Given the description of an element on the screen output the (x, y) to click on. 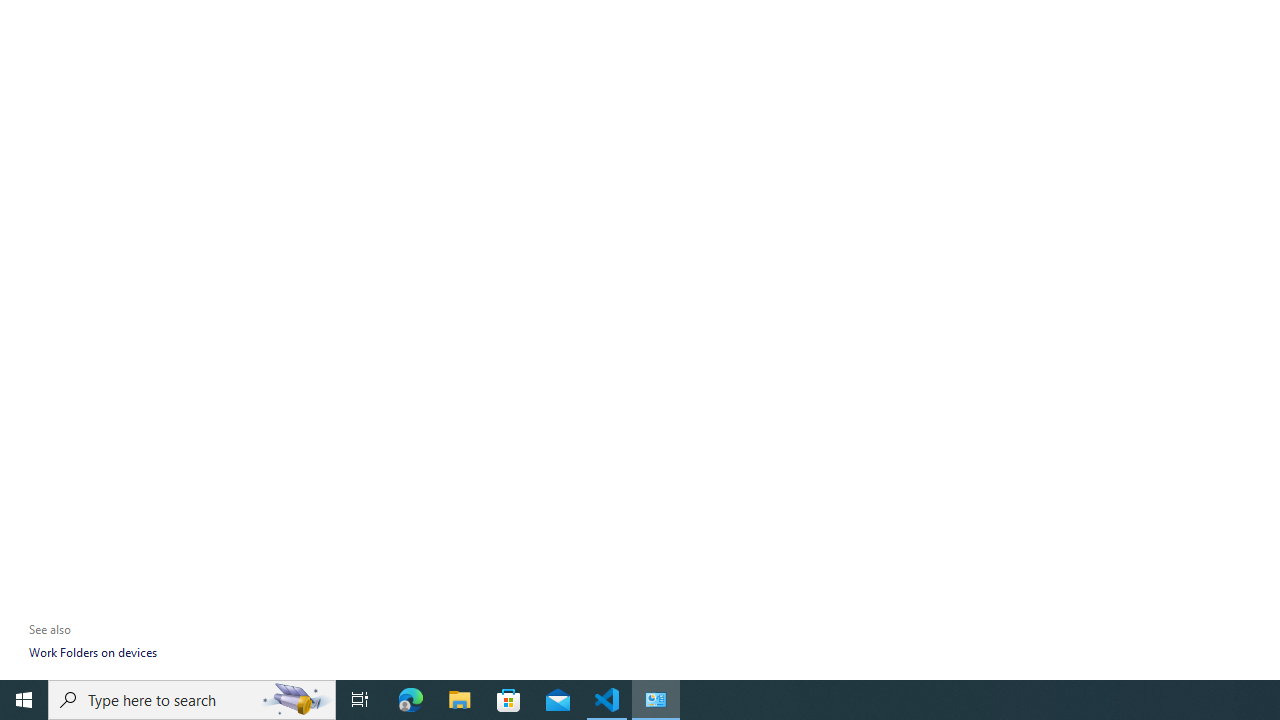
Control Panel - 1 running window (656, 699)
Work Folders on devices (92, 652)
